Given the description of an element on the screen output the (x, y) to click on. 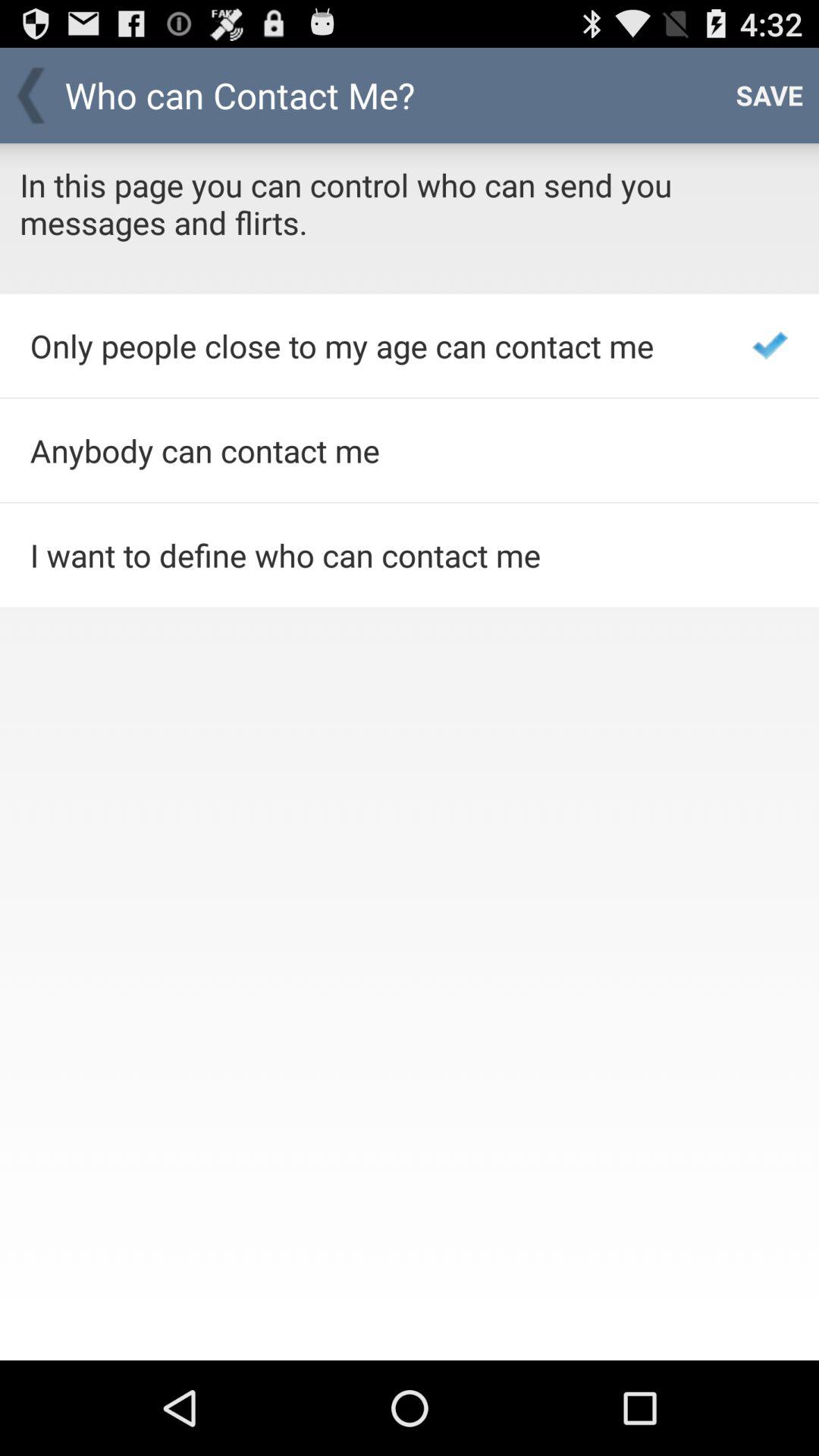
press the app below in this page item (769, 345)
